Given the description of an element on the screen output the (x, y) to click on. 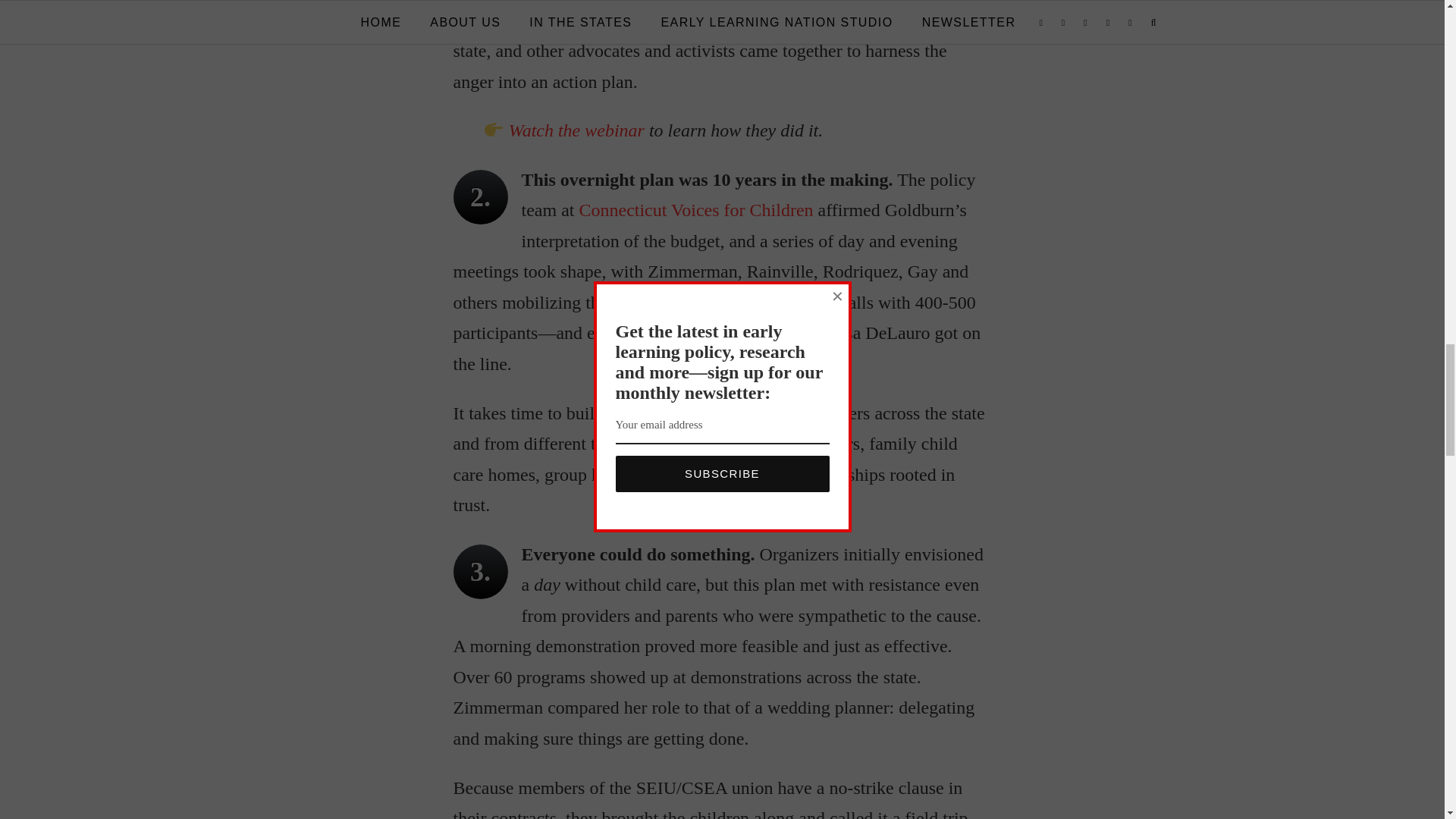
Watch the webinar (576, 130)
Connecticut Voices for Children (695, 209)
